Given the description of an element on the screen output the (x, y) to click on. 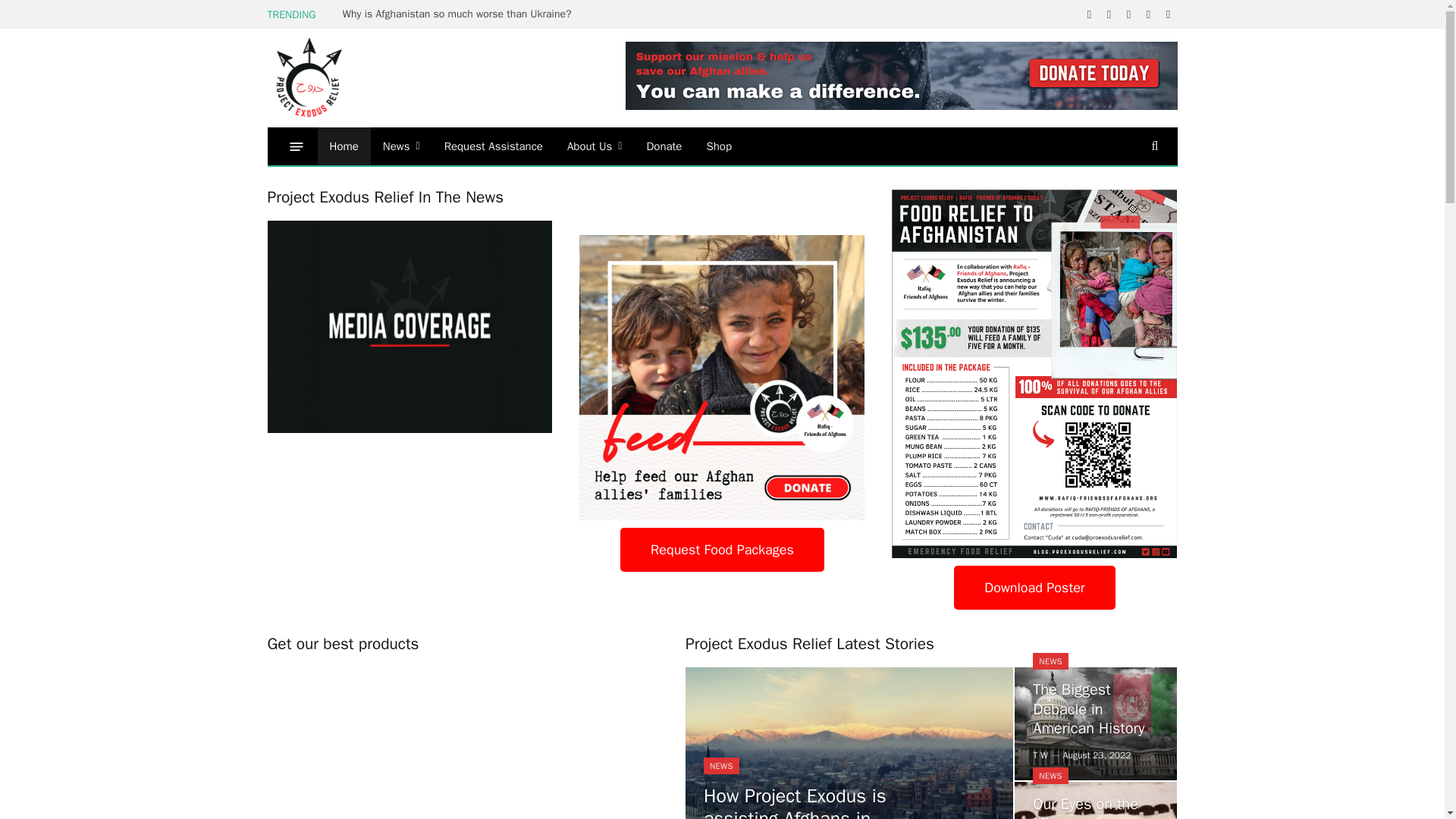
YouTube (1108, 14)
Project Exodus Relief (308, 77)
Instagram (1167, 14)
Twitter (1088, 14)
Facebook (1147, 14)
Home (343, 146)
Why is Afghanistan so much worse than Ukraine? (460, 14)
News (401, 146)
RSS (1128, 14)
